Given the description of an element on the screen output the (x, y) to click on. 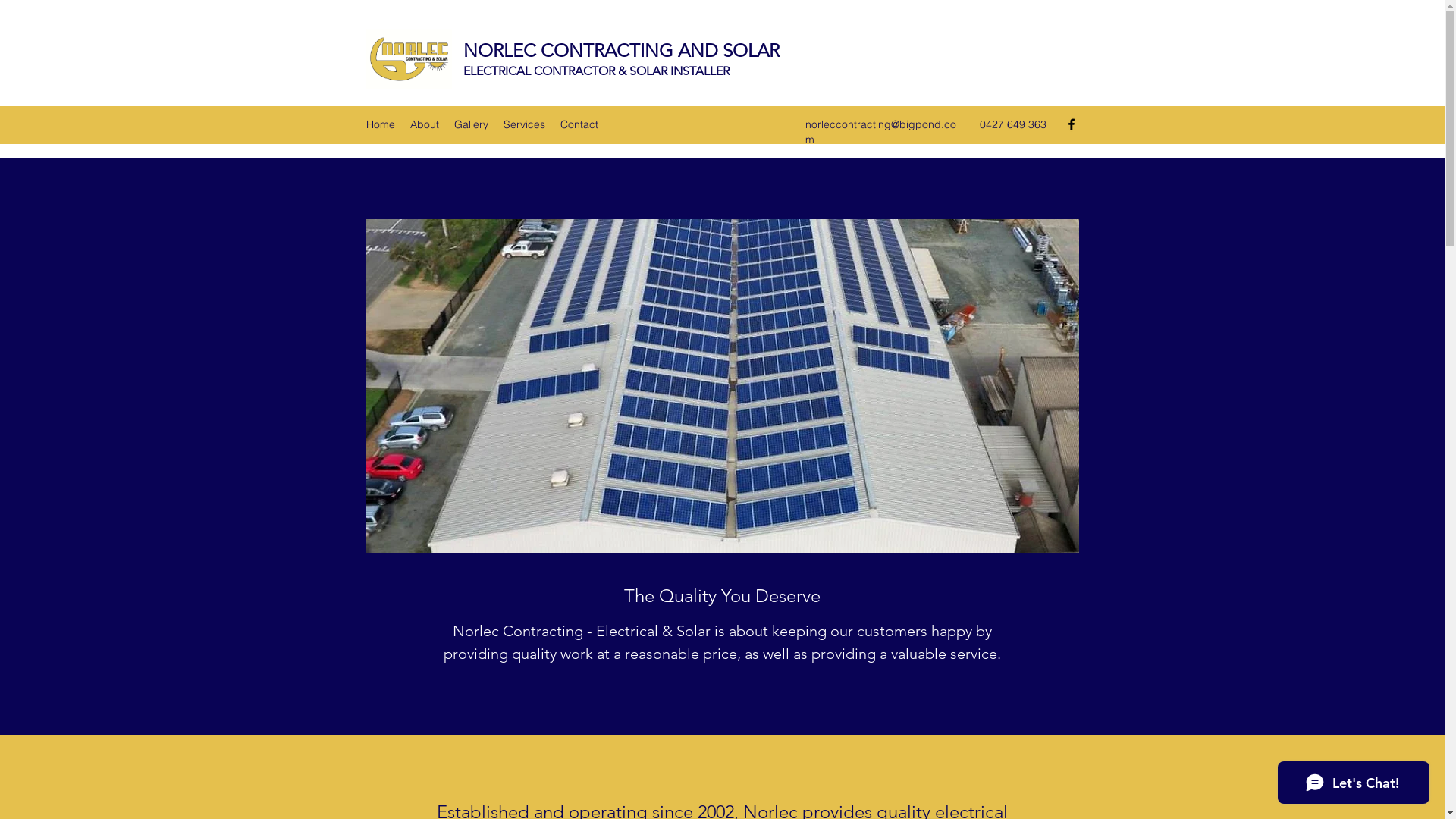
Gallery Element type: text (470, 123)
Services Element type: text (523, 123)
Contact Element type: text (578, 123)
Home Element type: text (379, 123)
norleccontracting@bigpond.com Element type: text (880, 131)
About Element type: text (423, 123)
